Given the description of an element on the screen output the (x, y) to click on. 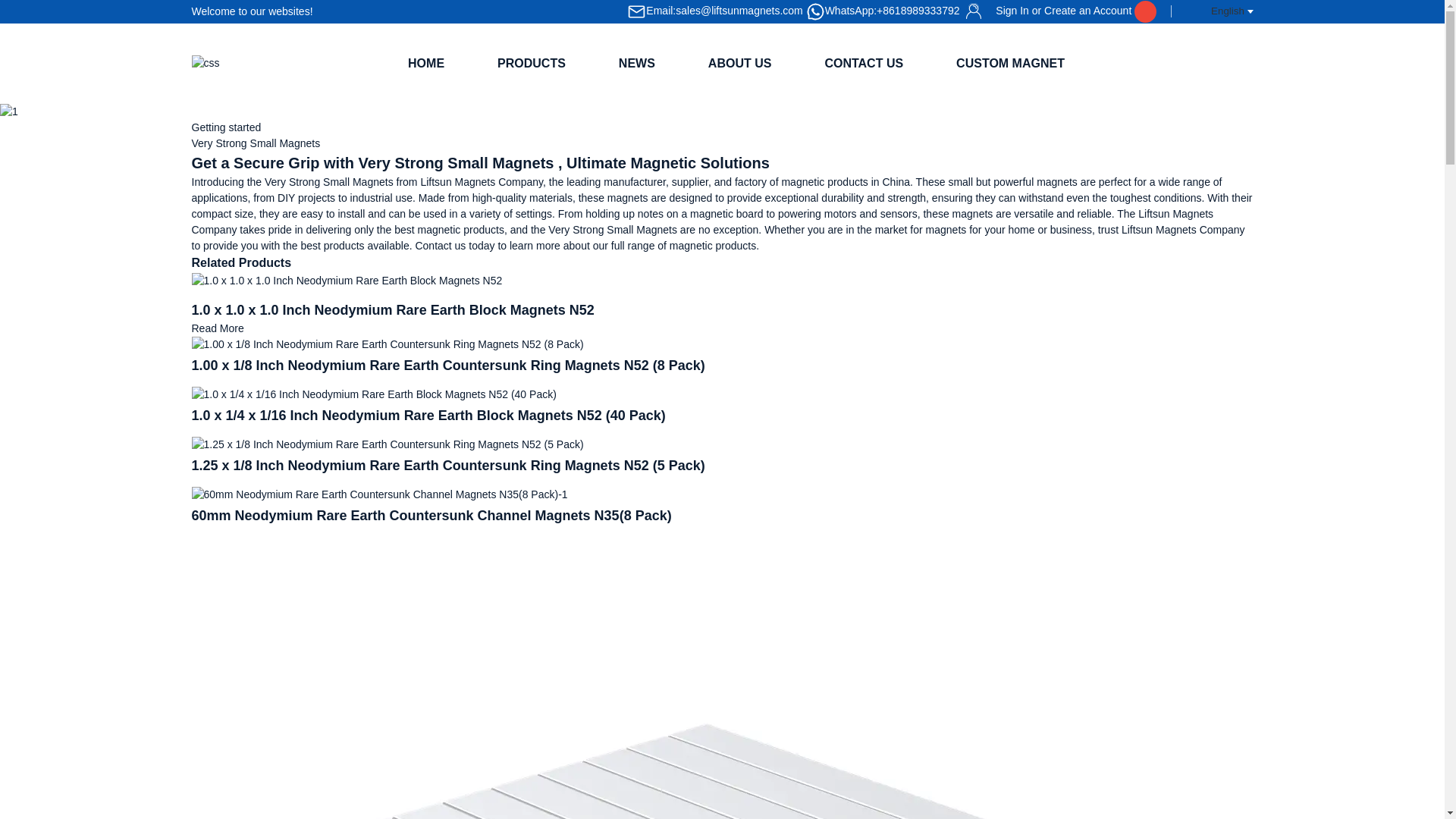
Getting started (225, 127)
1.0 x 1.0 x 1.0 Inch Neodymium Rare Earth Block Magnets N52 (392, 309)
English (1219, 10)
1.0 x 1.0 x 1.0 Inch Neodymium Rare Earth Block Magnets N52 (392, 309)
1.0 x 1.0 x 1.0 Inch Neodymium Rare Earth Block Magnets N52 (346, 279)
NEWS (636, 62)
Read More (216, 328)
CONTACT US (863, 62)
Sign In or Create an Account (1048, 10)
1.0 x 1.0 x 1.0 Inch Neodymium Rare Earth Block Magnets N52 (216, 328)
